Given the description of an element on the screen output the (x, y) to click on. 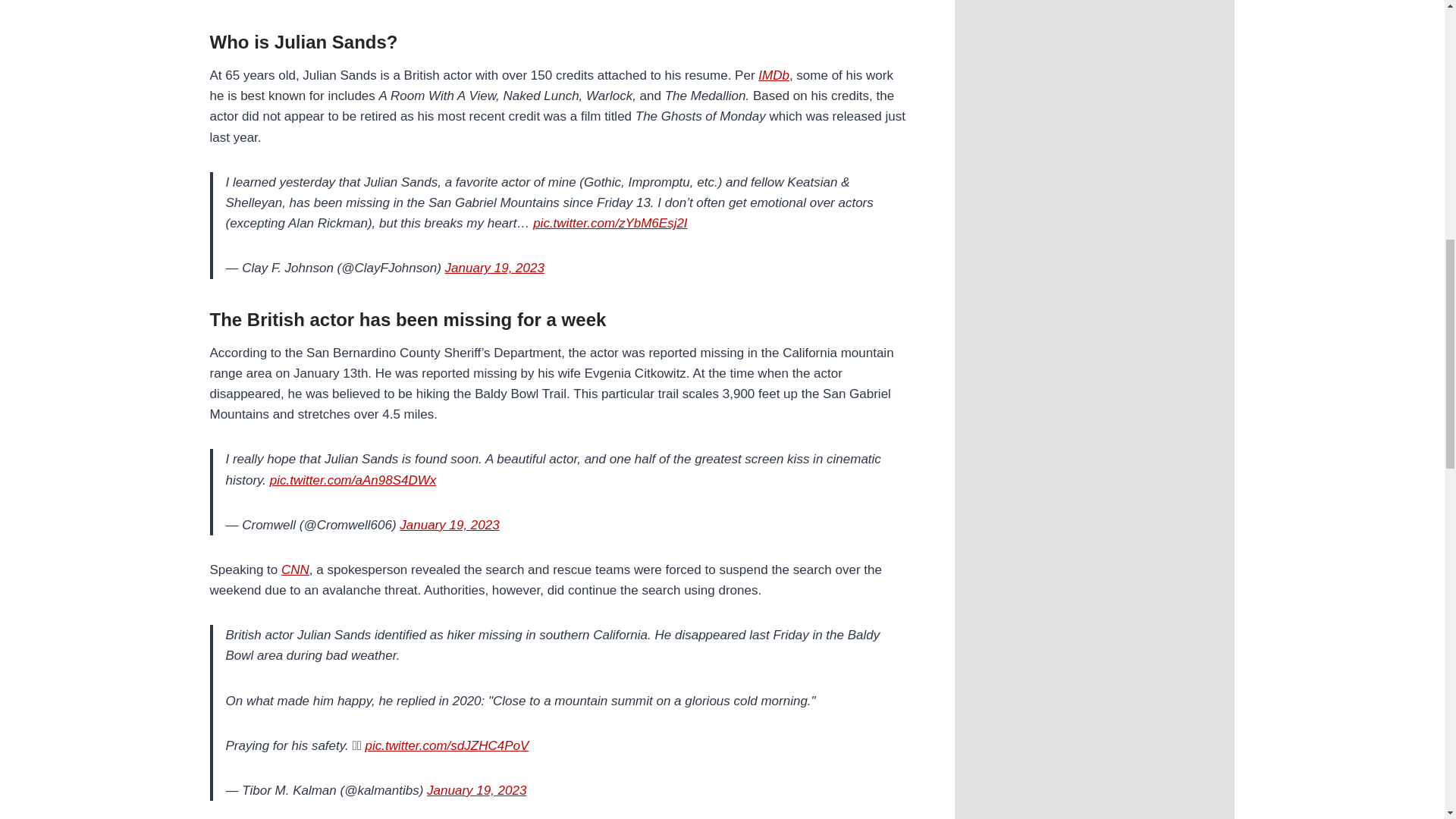
IMDb (773, 74)
January 19, 2023 (494, 268)
CNN (294, 569)
January 19, 2023 (475, 789)
January 19, 2023 (448, 524)
